Given the description of an element on the screen output the (x, y) to click on. 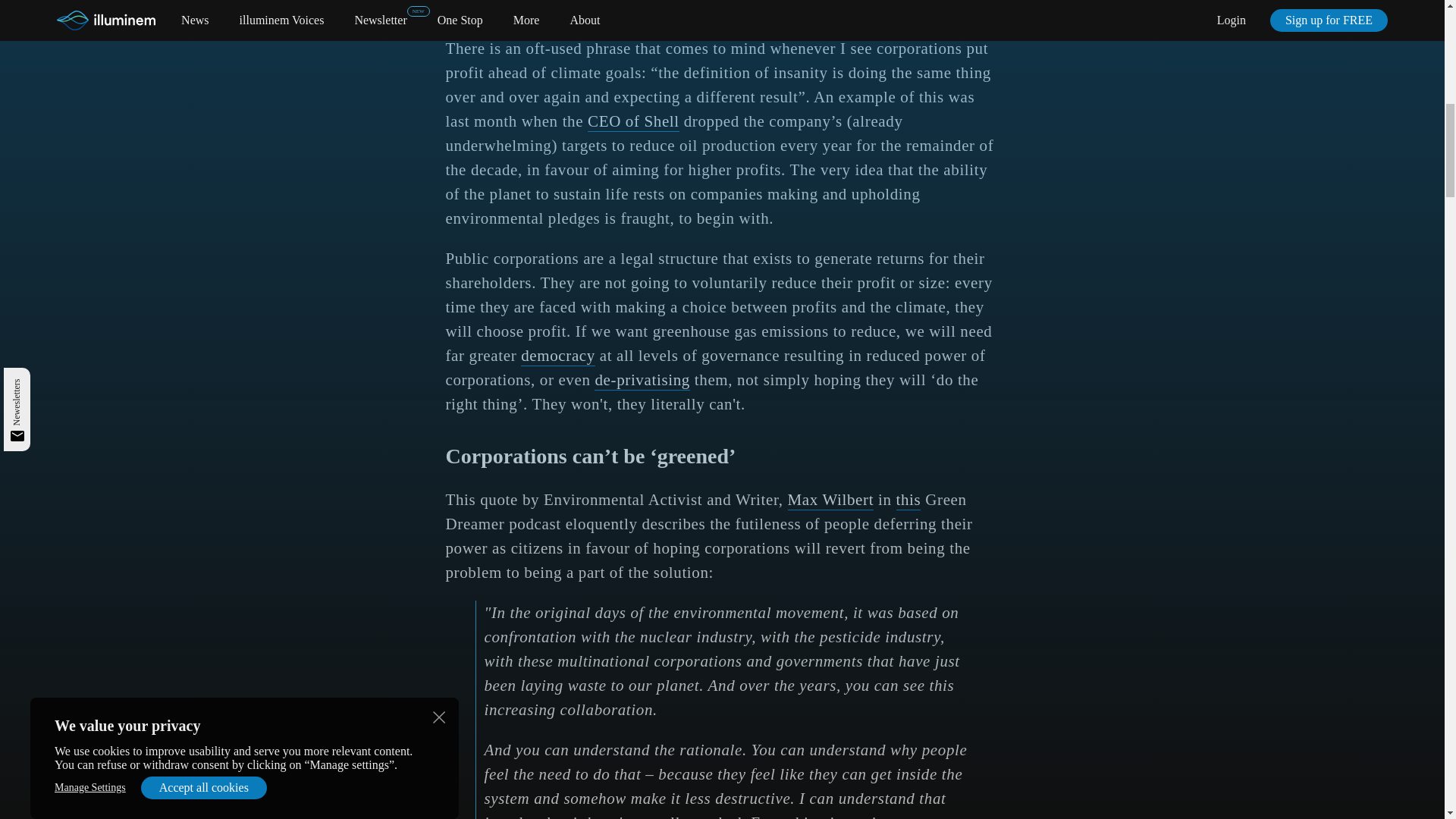
Max Wilbert (831, 500)
de-privatising (641, 380)
this (908, 500)
democracy (558, 356)
CEO of Shell (633, 121)
